Given the description of an element on the screen output the (x, y) to click on. 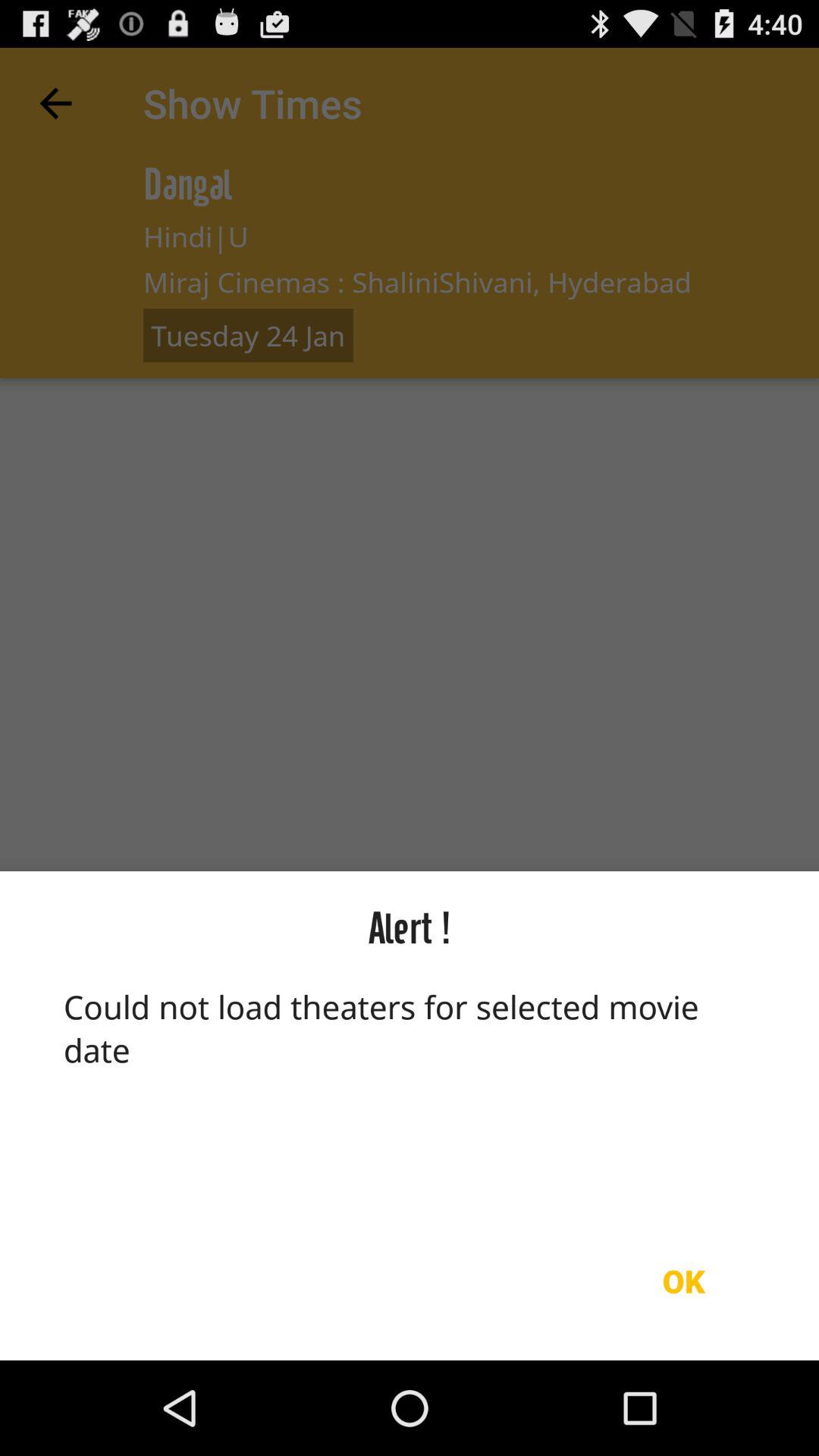
swipe to the could not load (409, 1093)
